Given the description of an element on the screen output the (x, y) to click on. 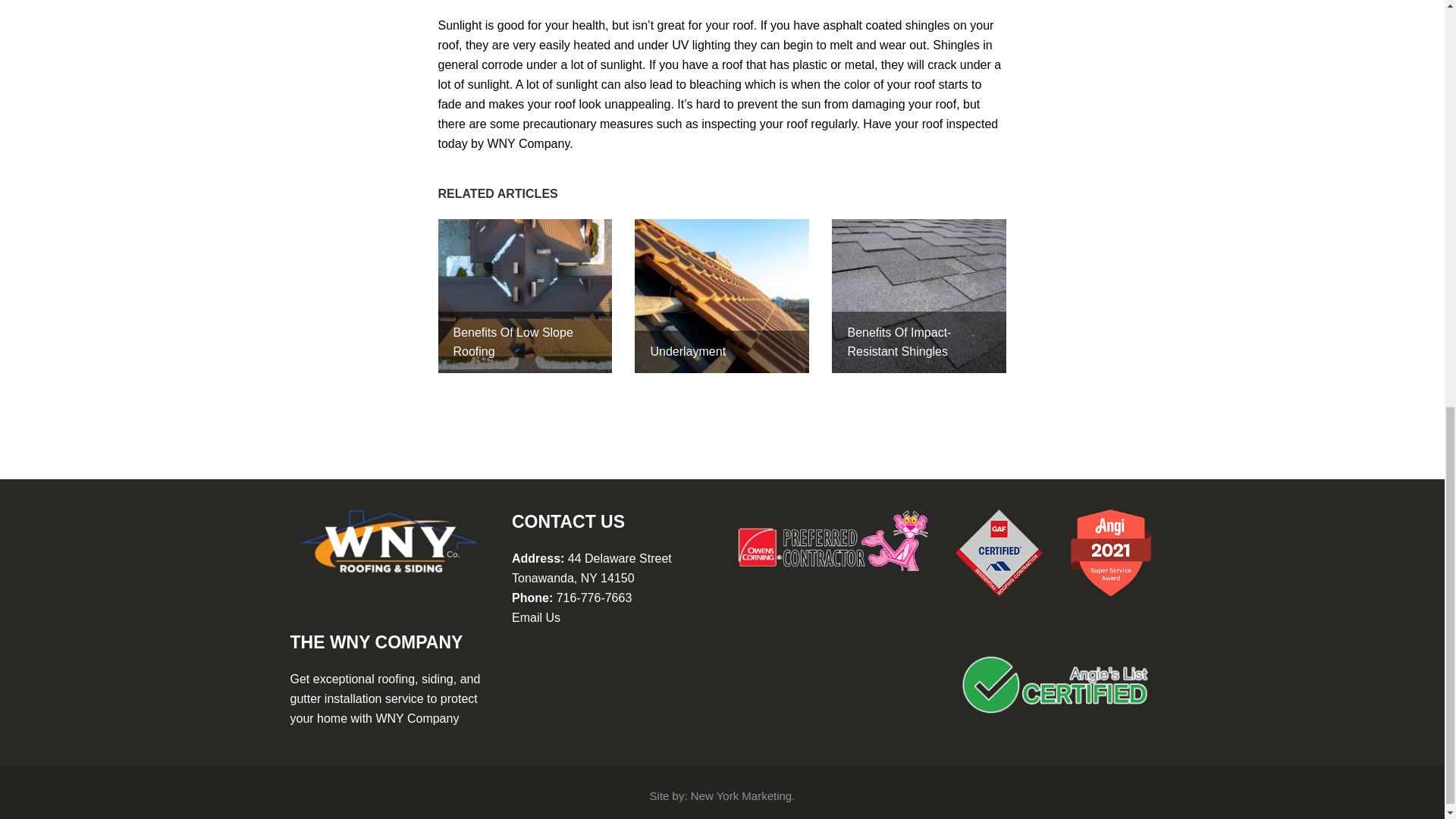
716-776-7663 (593, 597)
Benefits Of Impact-Resistant Shingles (918, 296)
New York Marketing (741, 795)
Underlayment (721, 296)
Benefits Of Low Slope Roofing (525, 296)
Email Us (536, 617)
Benefits Of Impact-Resistant Shingles (918, 296)
New York Marketing (741, 795)
Underlayment (721, 296)
Benefits Of Low Slope Roofing (525, 296)
